Given the description of an element on the screen output the (x, y) to click on. 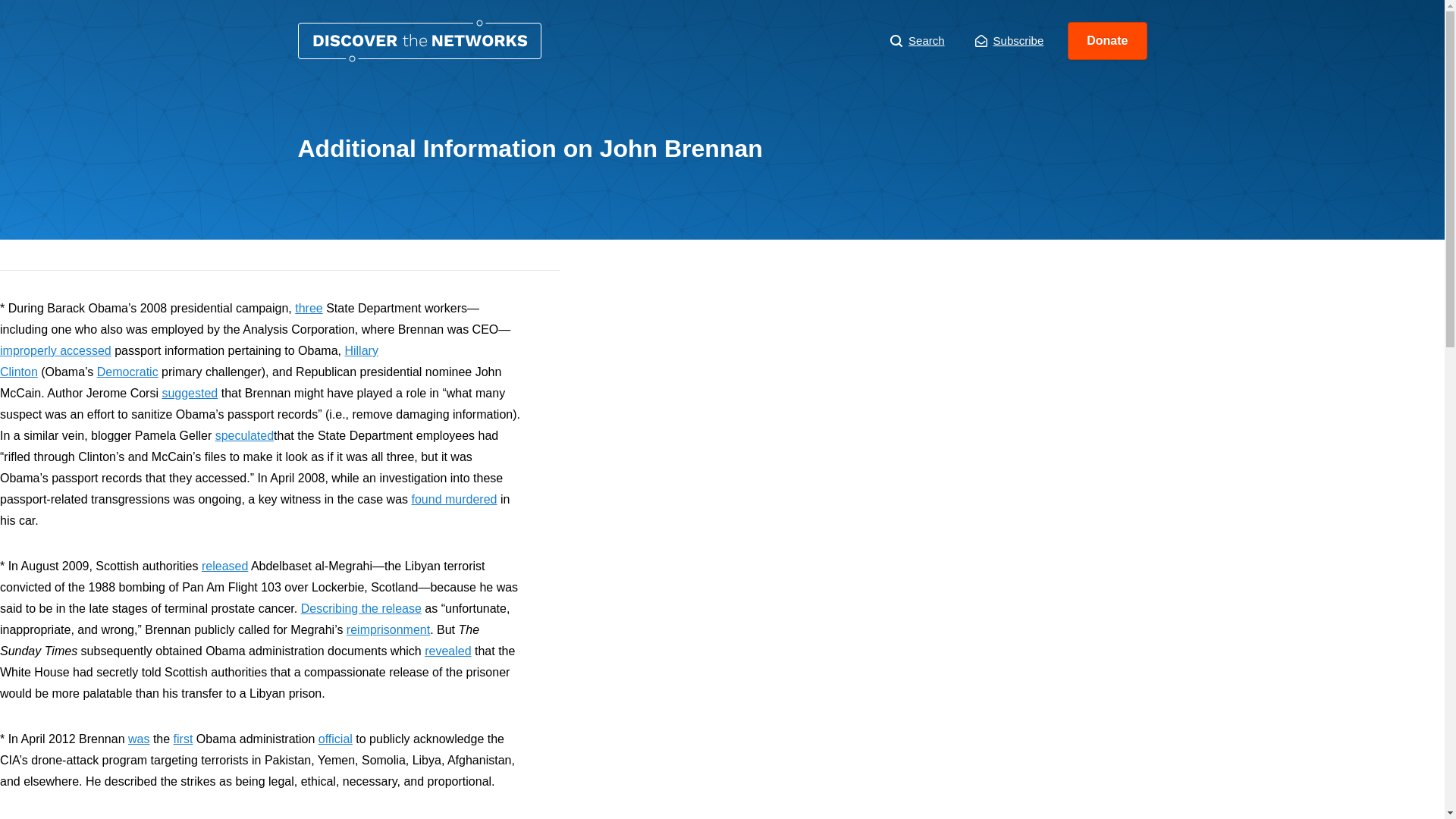
revealed (447, 650)
reimprisonment (387, 629)
three (308, 308)
Additional Information on John Brennan (418, 40)
Donate (1107, 40)
found murdered (453, 499)
Describing the release (361, 608)
speculated (244, 435)
official (335, 738)
Democratic (127, 371)
Search (916, 40)
first (183, 738)
Hillary Clinton (189, 360)
improperly accessed (56, 350)
Subscribe (1009, 40)
